Given the description of an element on the screen output the (x, y) to click on. 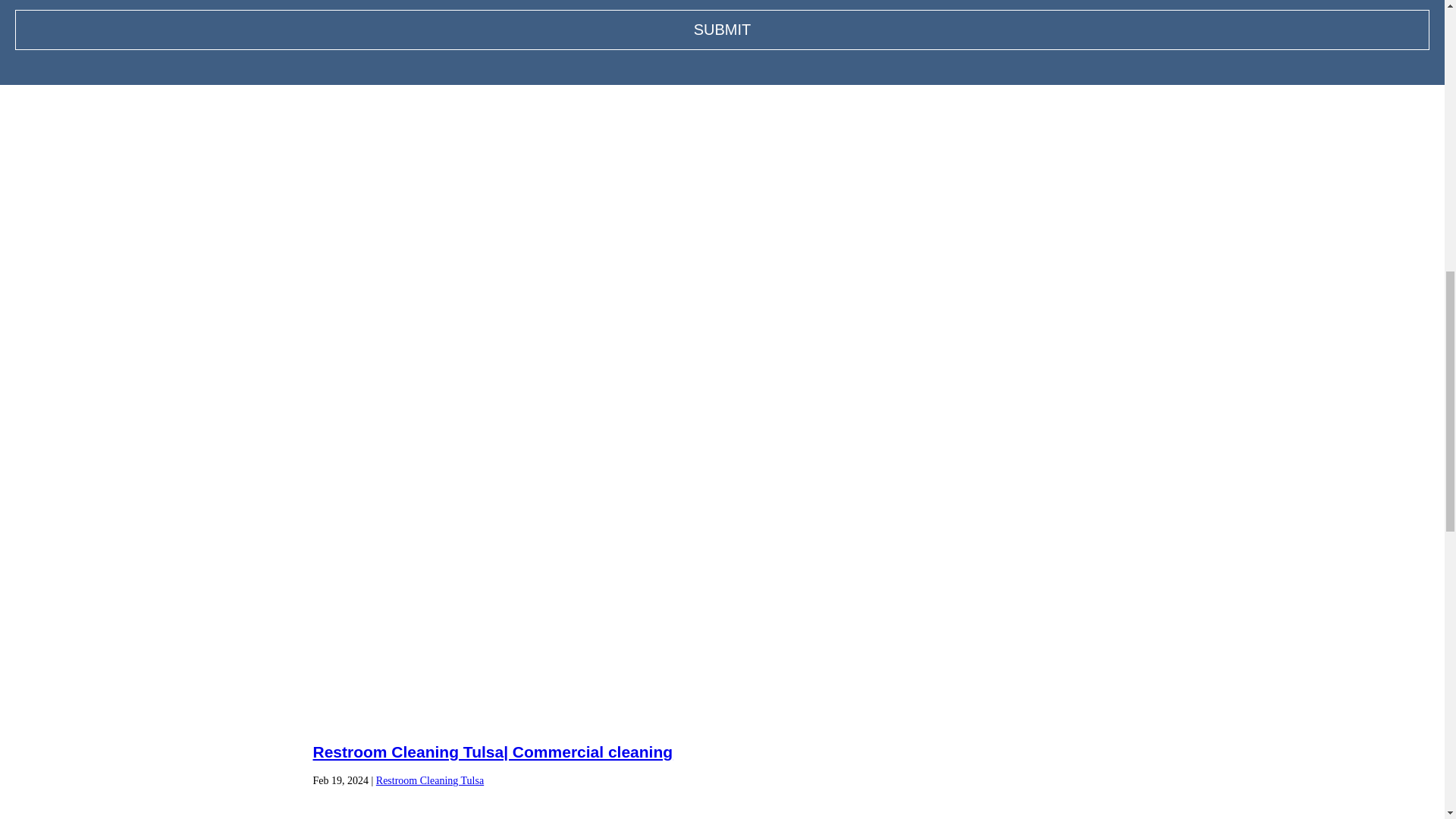
Submit (721, 29)
Restroom Cleaning Tulsa (429, 780)
Submit (721, 29)
